Given the description of an element on the screen output the (x, y) to click on. 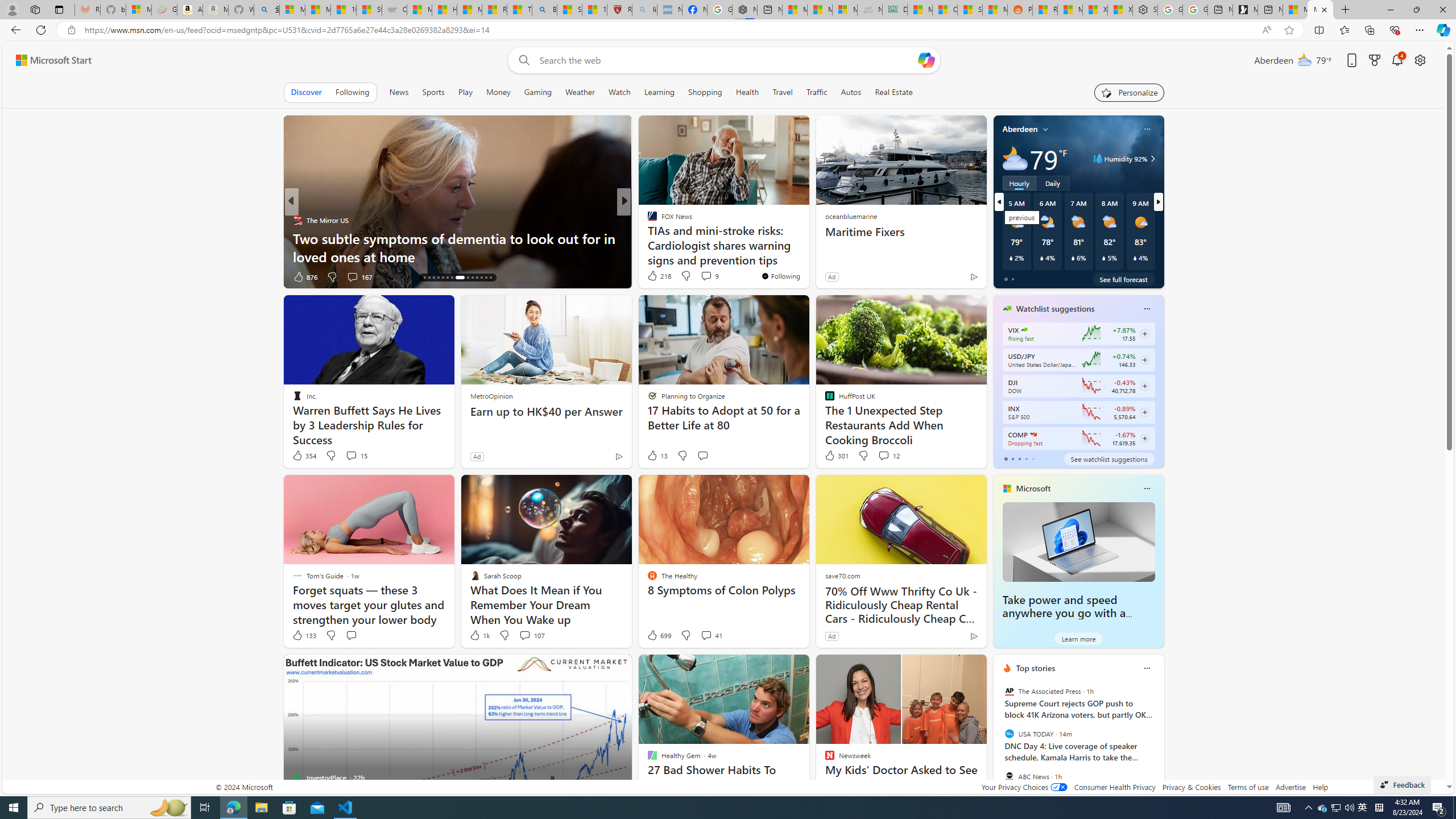
The Associated Press (1008, 691)
tab-1 (1012, 458)
tab-0 (1005, 458)
AutomationID: tab-18 (438, 277)
Real Estate (893, 92)
419 Like (654, 276)
Terms of use (1247, 786)
View comments 167 Comment (352, 276)
AutomationID: tab-22 (459, 277)
